Given the description of an element on the screen output the (x, y) to click on. 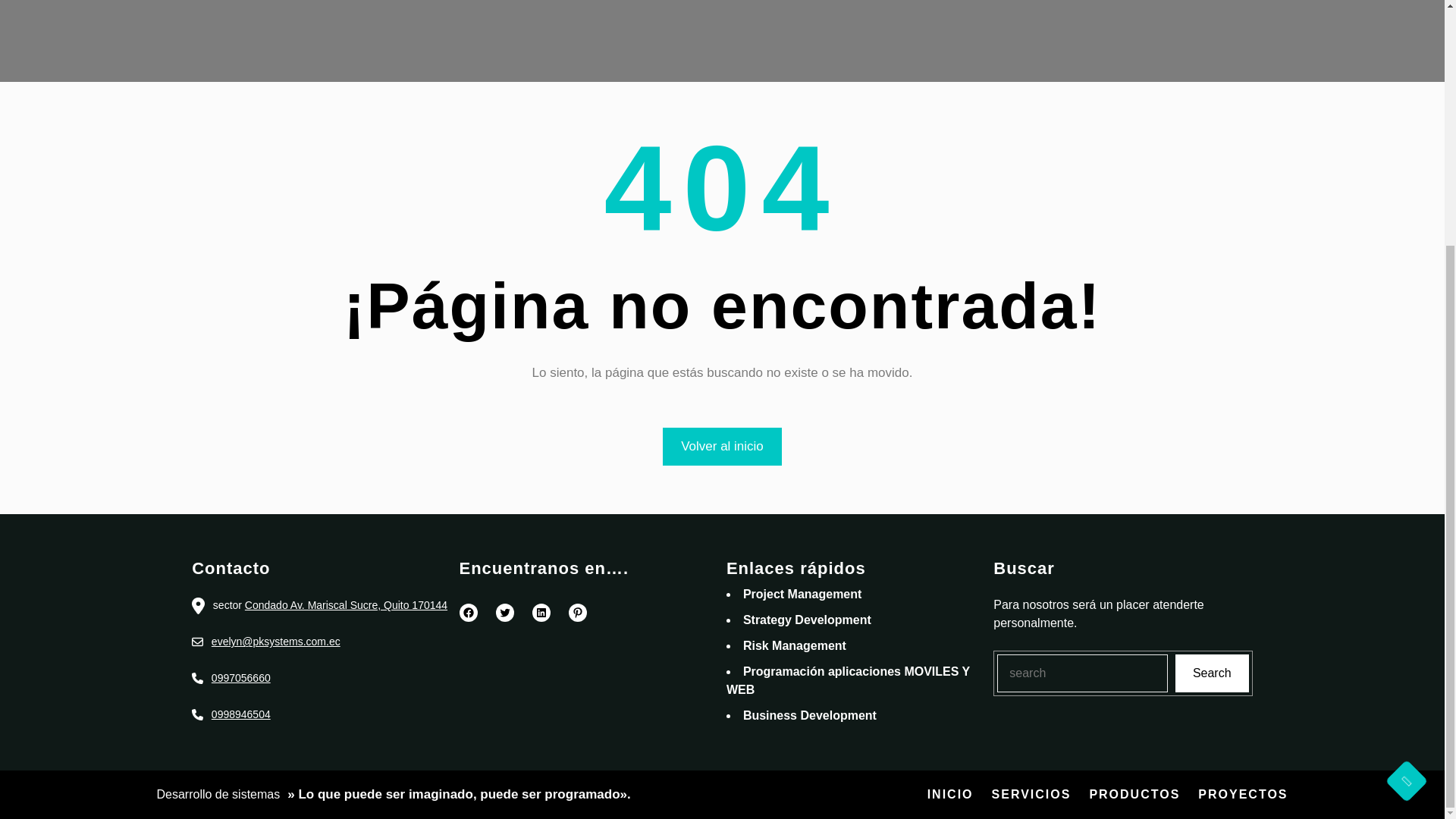
Business Development (809, 715)
PROYECTOS (1242, 794)
0997056660 (240, 677)
Condado Av. Mariscal Sucre, Quito 170144 (345, 604)
Risk Management (793, 645)
Strategy Development (806, 619)
Pinterest (577, 612)
Twitter (504, 612)
LinkedIn (541, 612)
Facebook (468, 612)
